Given the description of an element on the screen output the (x, y) to click on. 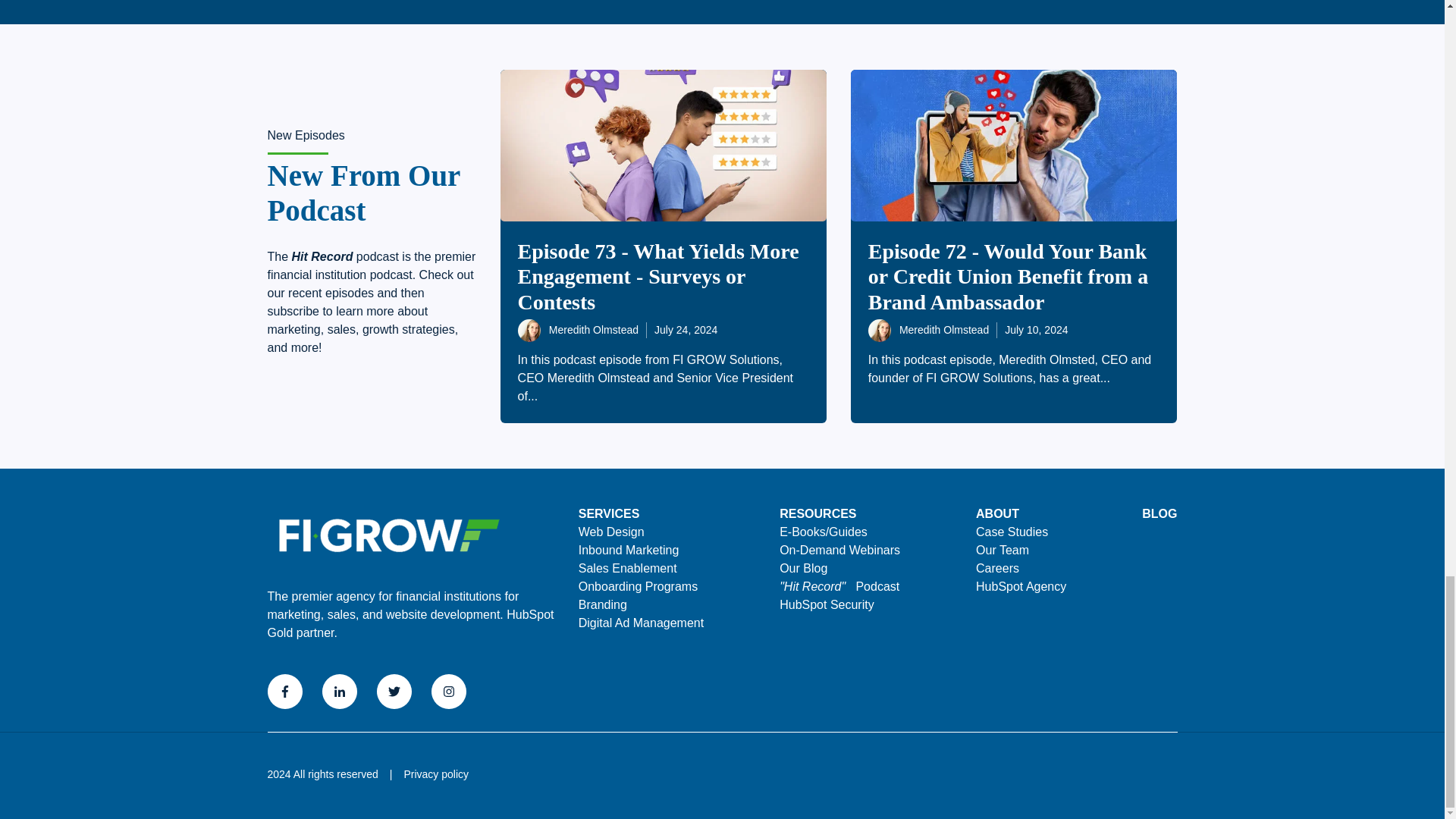
FI GROW 2 (387, 535)
